Given the description of an element on the screen output the (x, y) to click on. 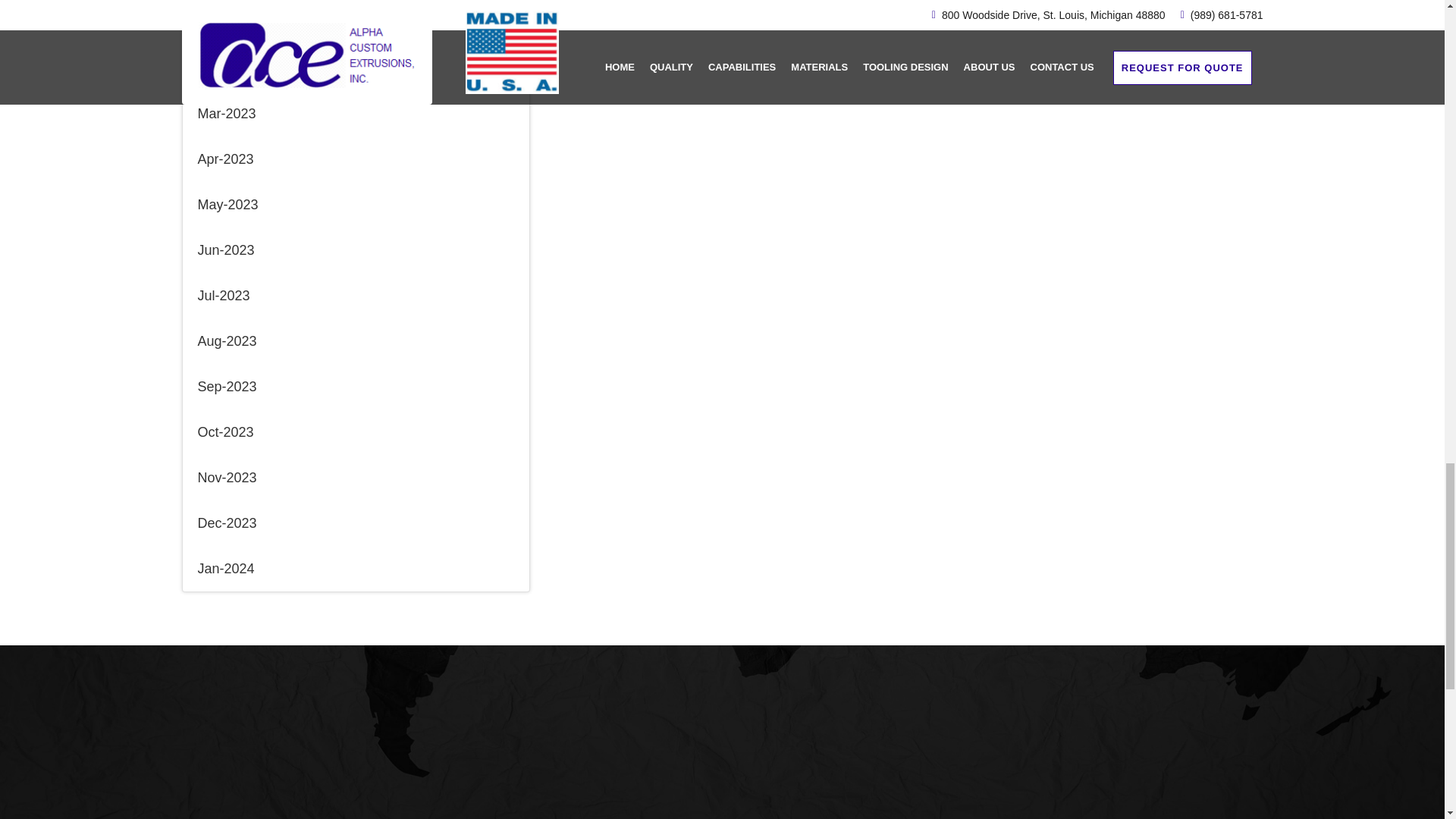
May-2023 (355, 204)
Apr-2023 (355, 158)
Mar-2023 (355, 113)
Feb-2023 (355, 67)
Jan-2023 (355, 22)
